Given the description of an element on the screen output the (x, y) to click on. 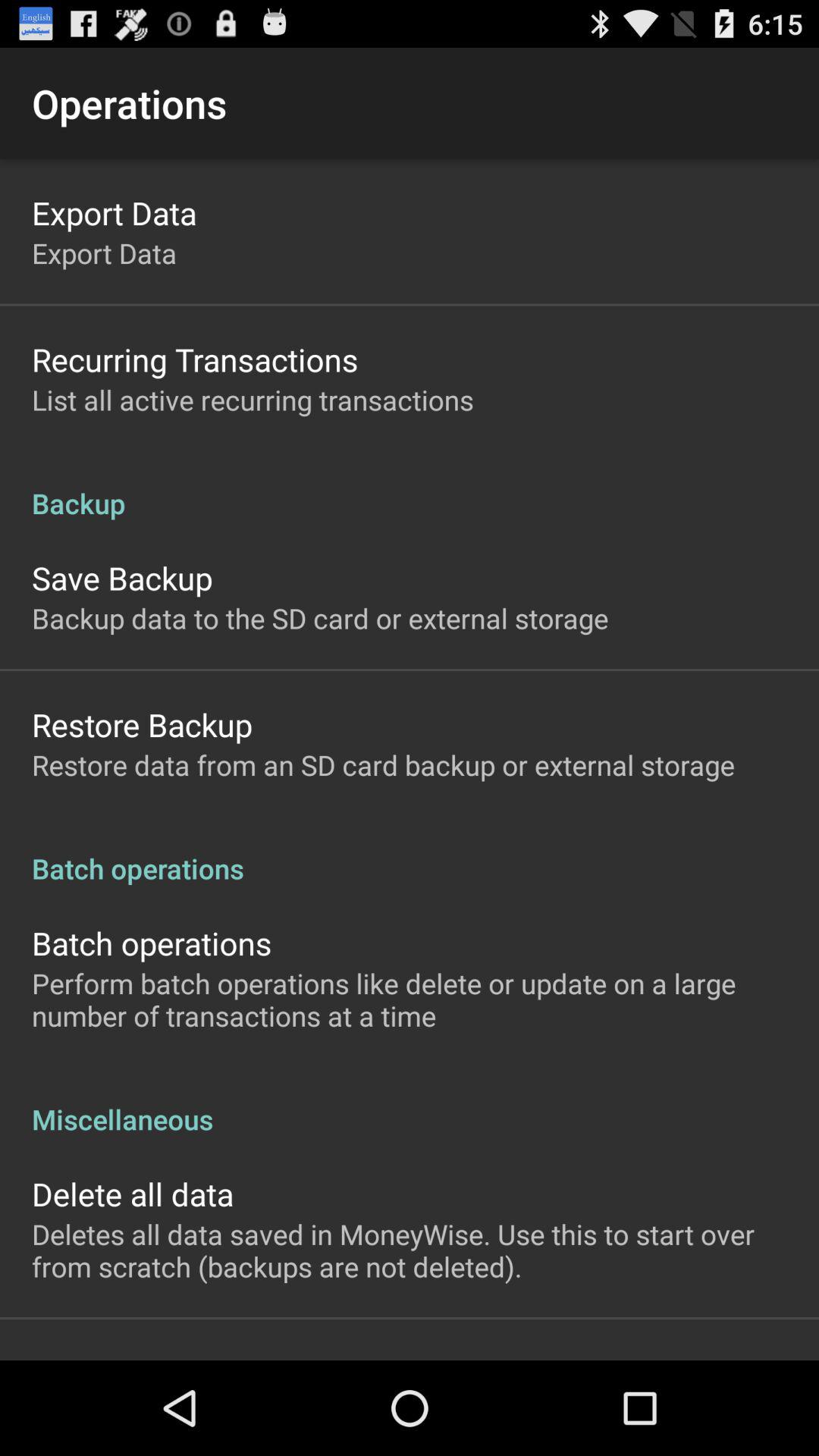
open app above the backup data to app (121, 577)
